Given the description of an element on the screen output the (x, y) to click on. 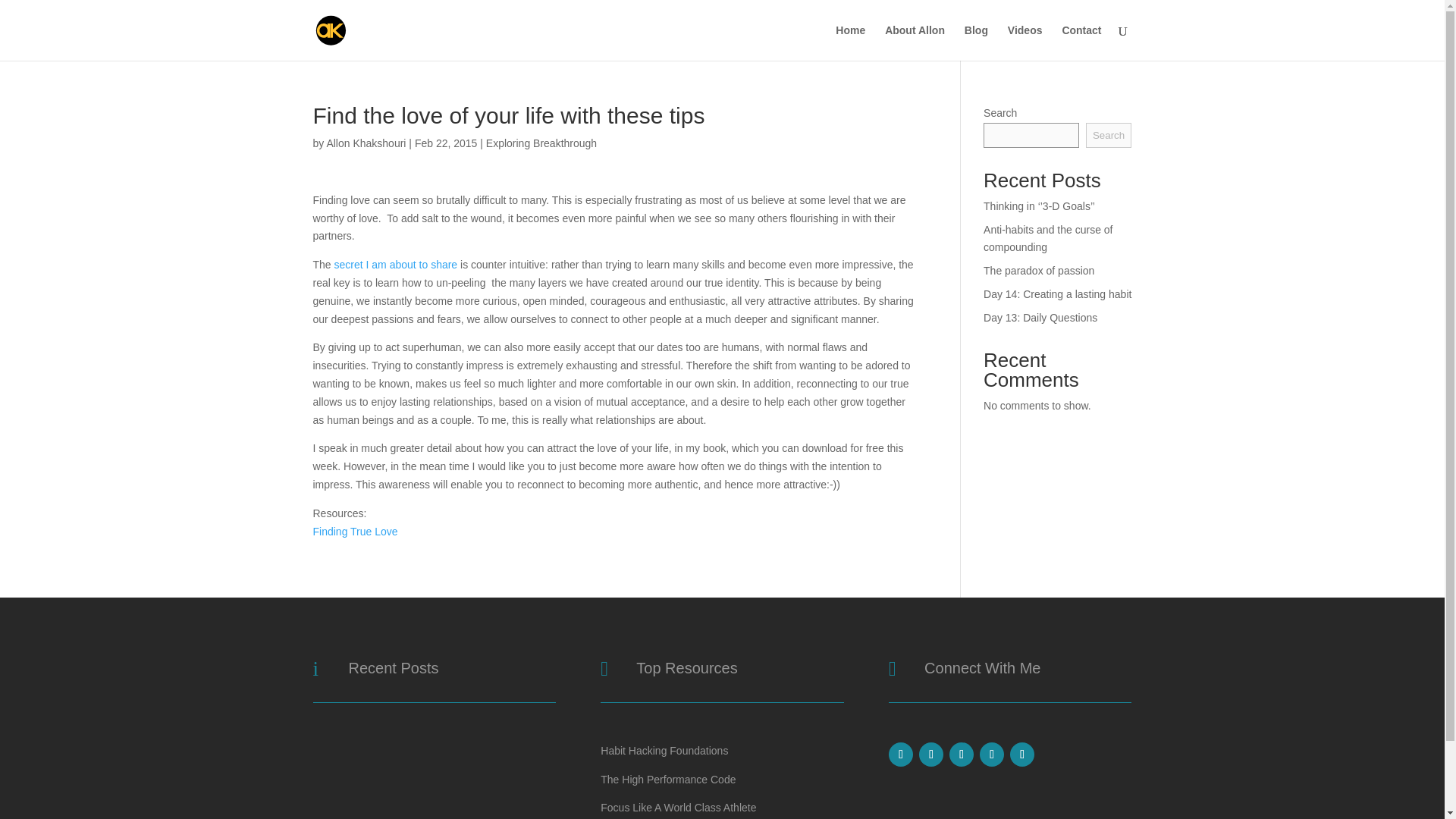
Exploring Breakthrough (541, 143)
Day 14: Creating a lasting habit (1057, 294)
Videos (1024, 42)
Finding True Love (355, 531)
About Allon (914, 42)
Contact (1080, 42)
The paradox of passion (1039, 270)
Search (1109, 135)
Day 13: Daily Questions (1040, 317)
Anti-habits and the curse of compounding (1048, 238)
